Given the description of an element on the screen output the (x, y) to click on. 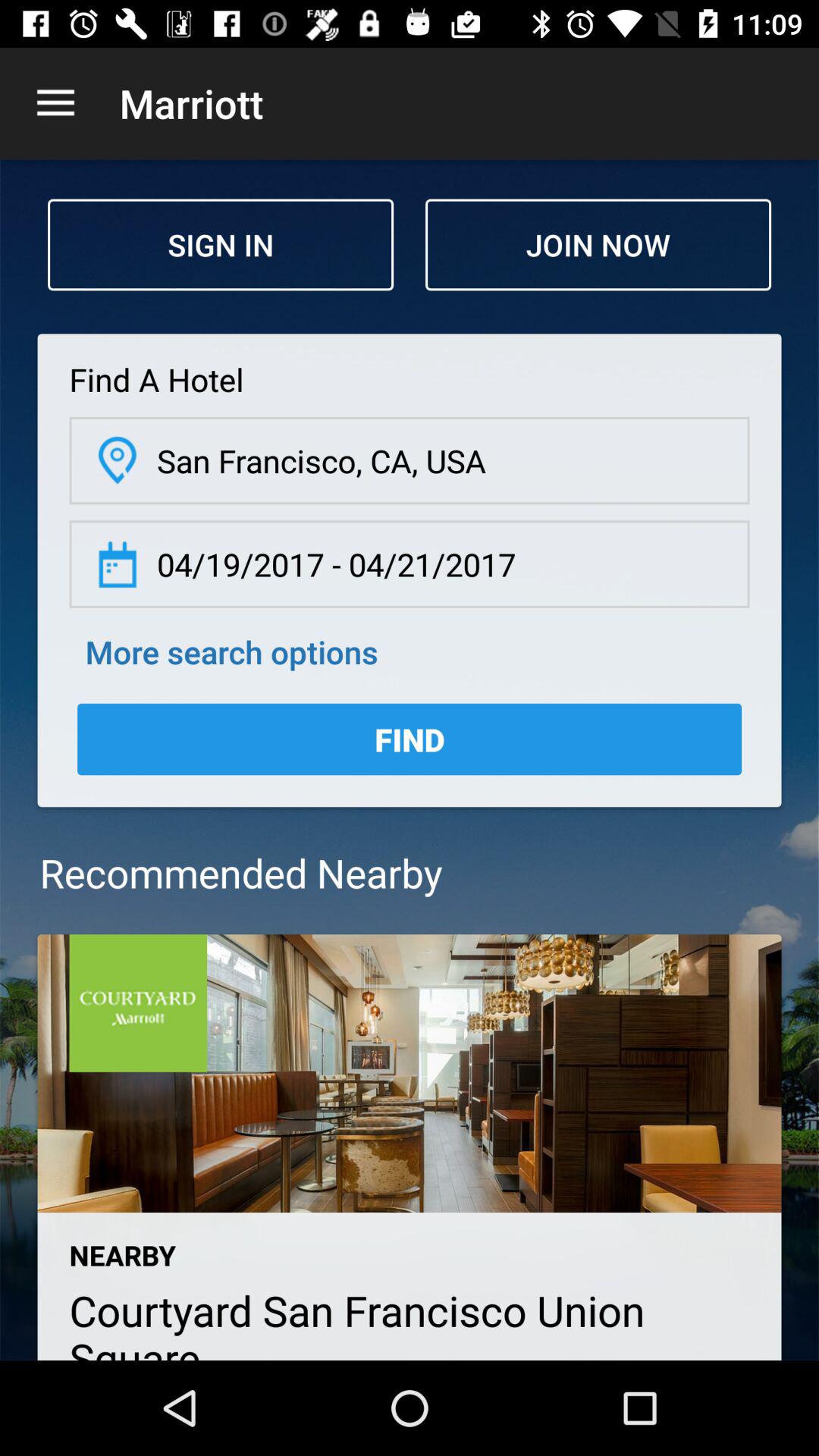
turn off icon above find icon (231, 651)
